Given the description of an element on the screen output the (x, y) to click on. 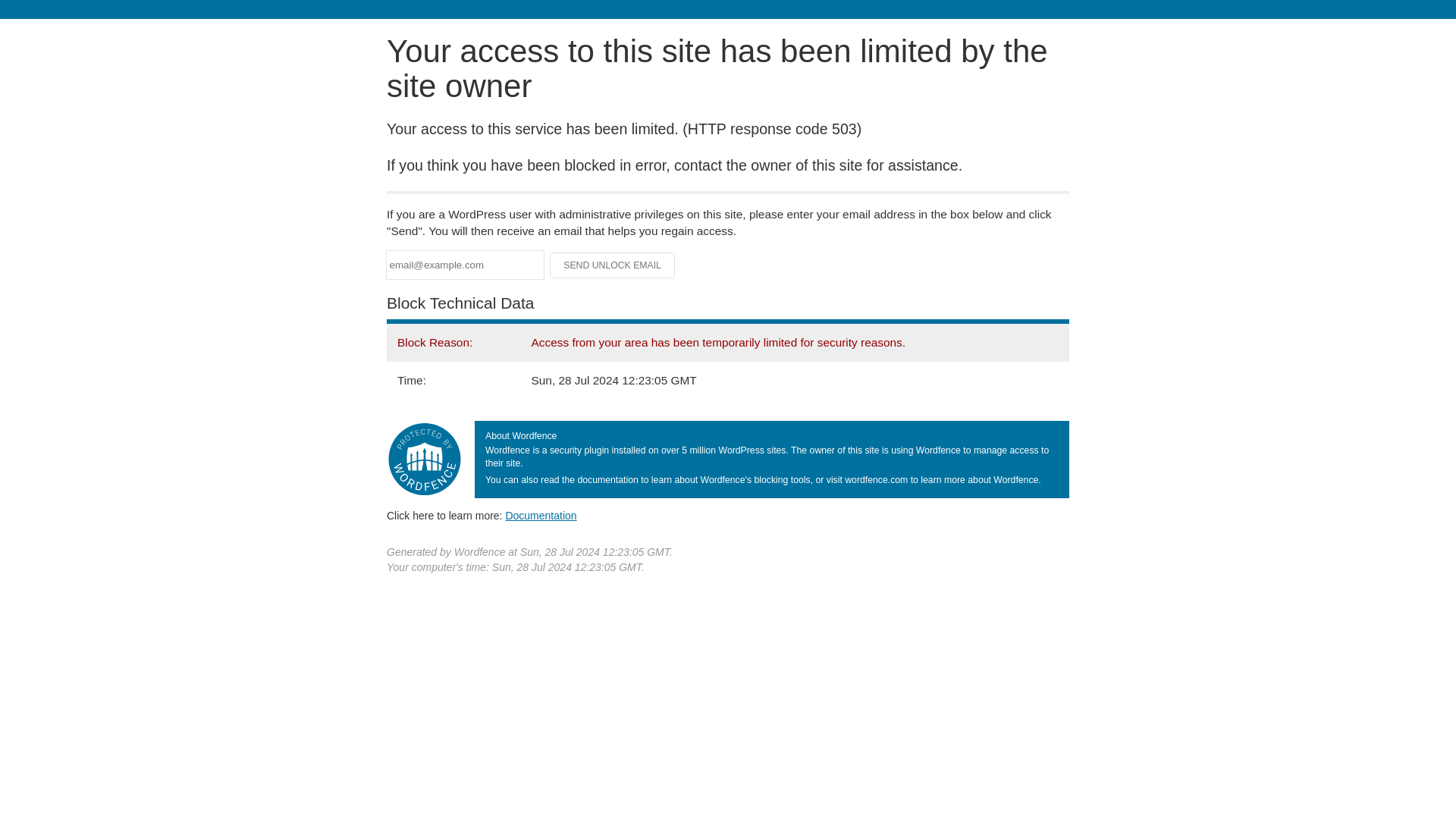
Documentation (540, 515)
Send Unlock Email (612, 265)
Send Unlock Email (612, 265)
